Given the description of an element on the screen output the (x, y) to click on. 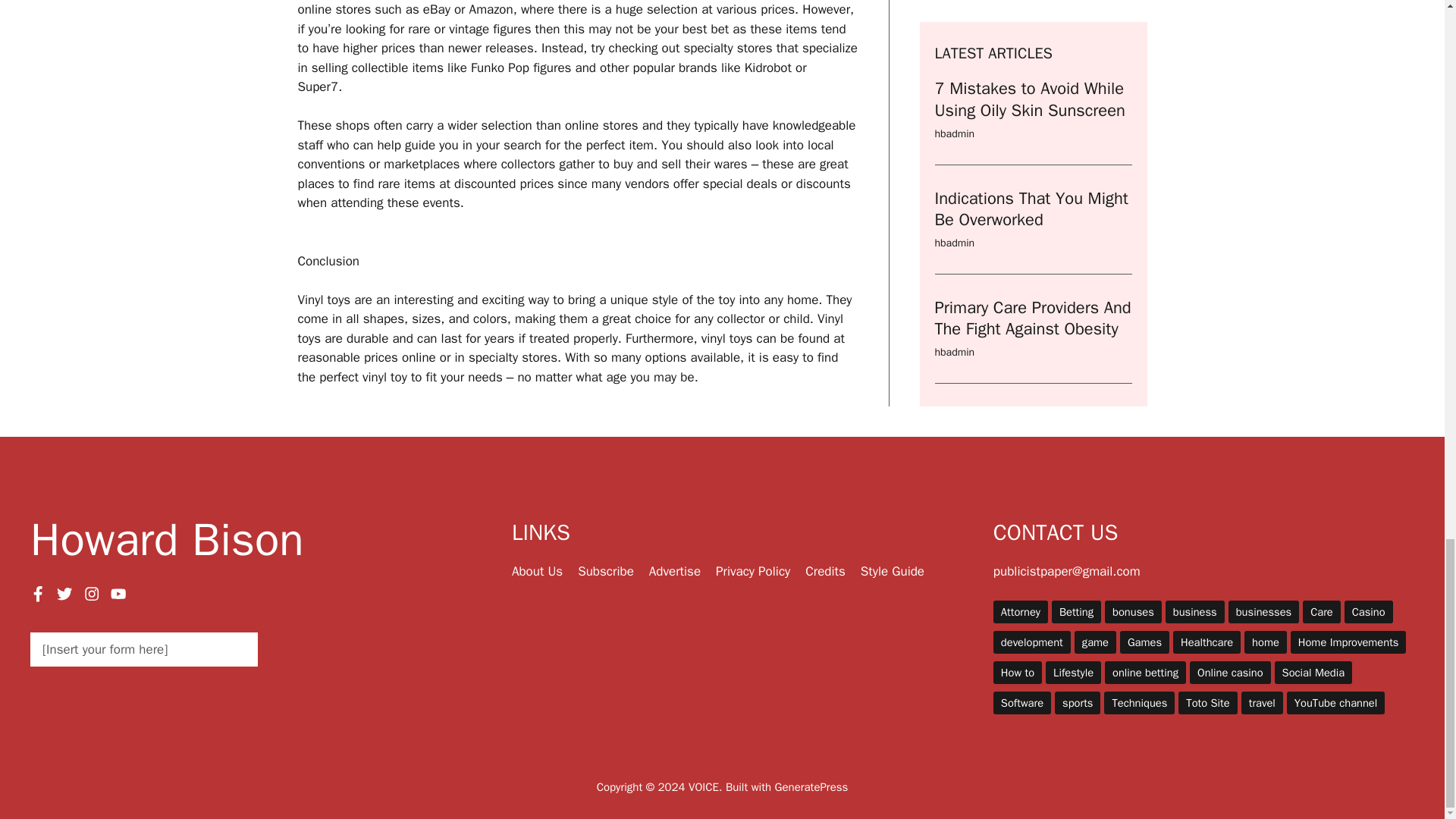
Style Guide (892, 571)
Casino (1368, 611)
game (1095, 641)
Betting (1075, 611)
business (1195, 611)
businesses (1263, 611)
Credits (825, 571)
Games (1144, 641)
development (1031, 641)
Care (1321, 611)
Subscribe (605, 571)
Attorney (1020, 611)
About Us (537, 571)
Advertise (674, 571)
Privacy Policy (753, 571)
